Given the description of an element on the screen output the (x, y) to click on. 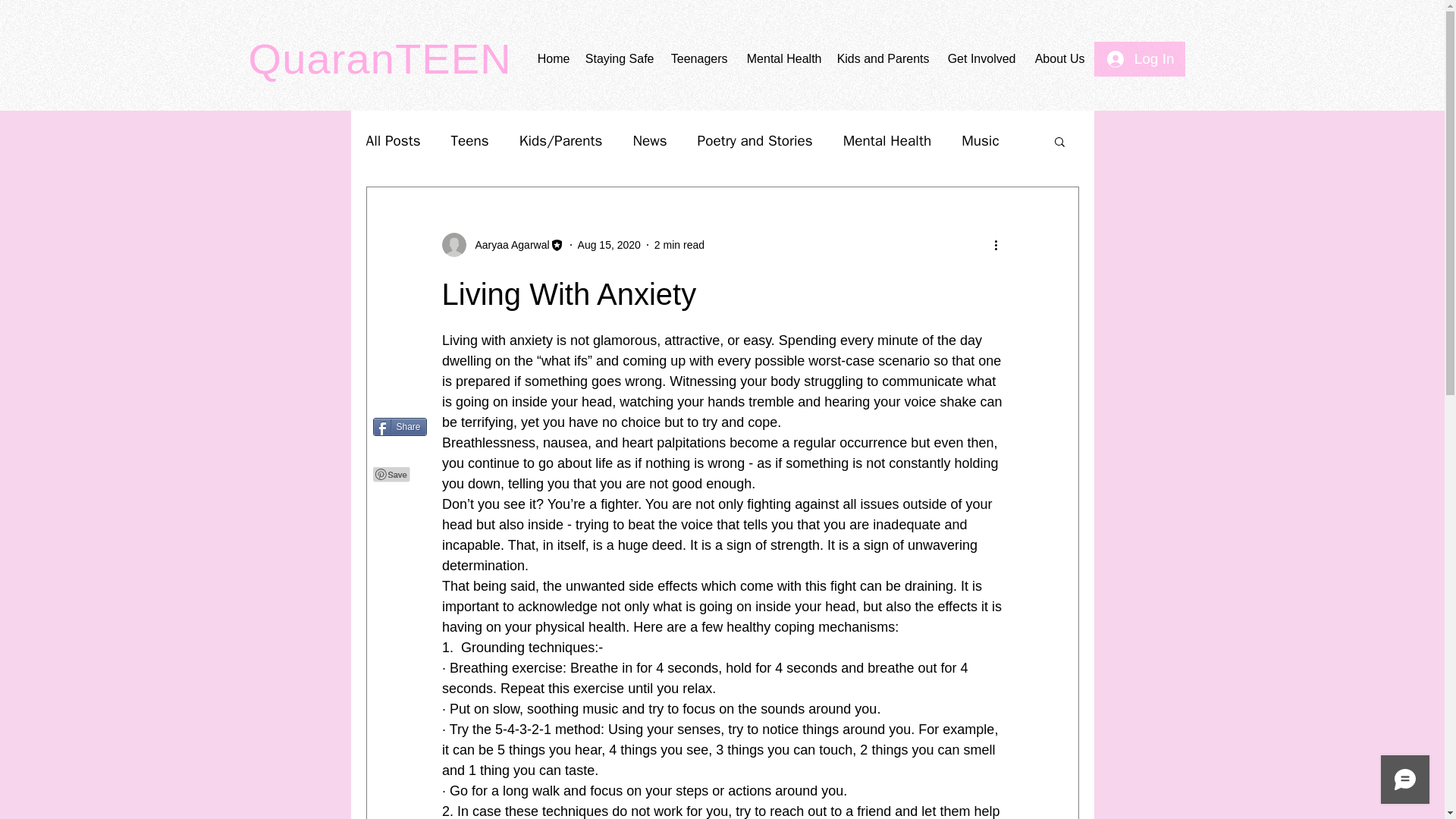
Pin to Pinterest (391, 474)
Mental Health (887, 140)
Aaryaa Agarwal (502, 244)
Aaryaa Agarwal  (506, 244)
Music (979, 140)
Share (399, 426)
Teens (470, 140)
All Posts (392, 140)
Kids and Parents (883, 58)
Log In (1140, 59)
